Given the description of an element on the screen output the (x, y) to click on. 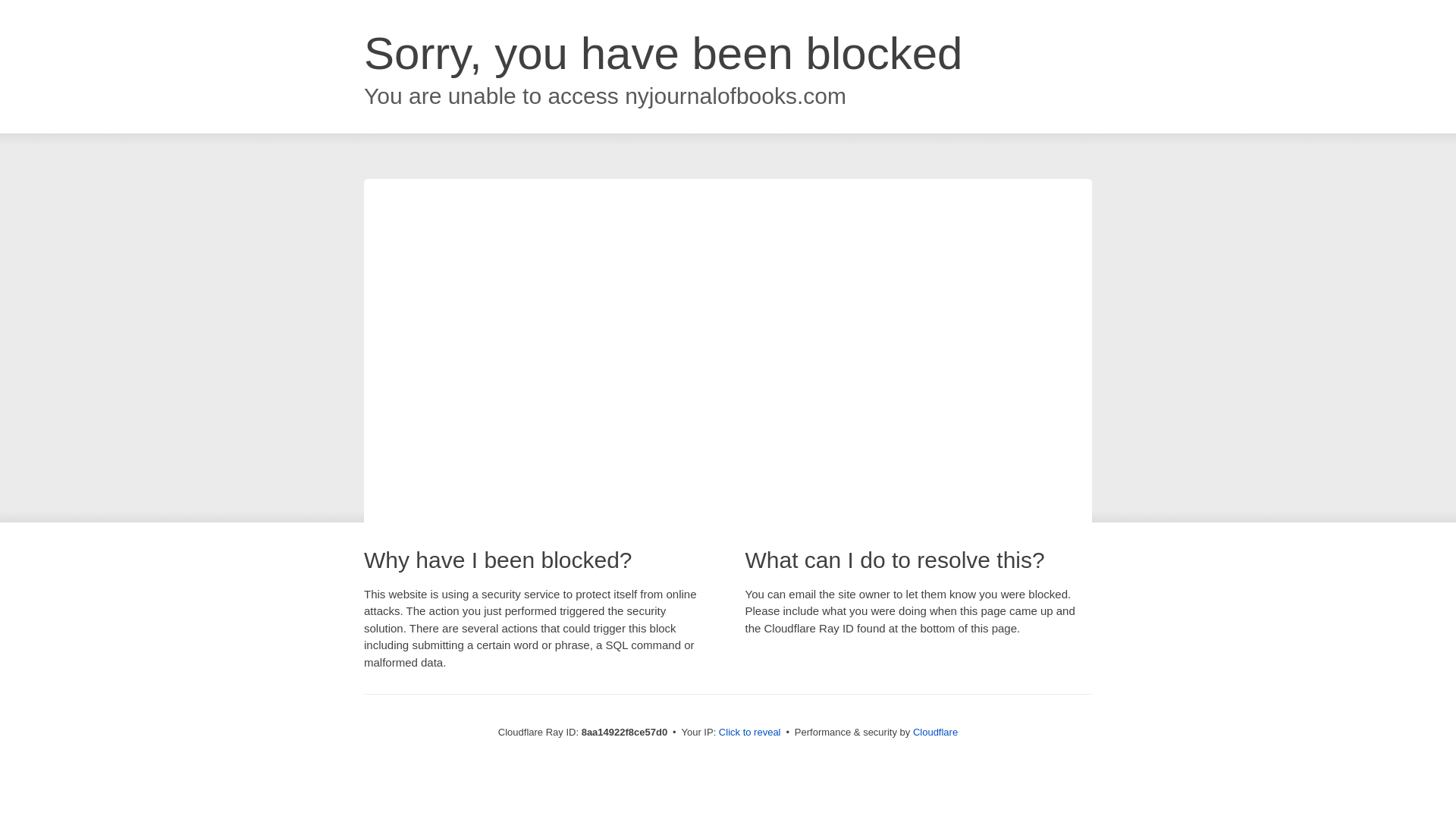
Click to reveal (749, 732)
Cloudflare (935, 731)
